Given the description of an element on the screen output the (x, y) to click on. 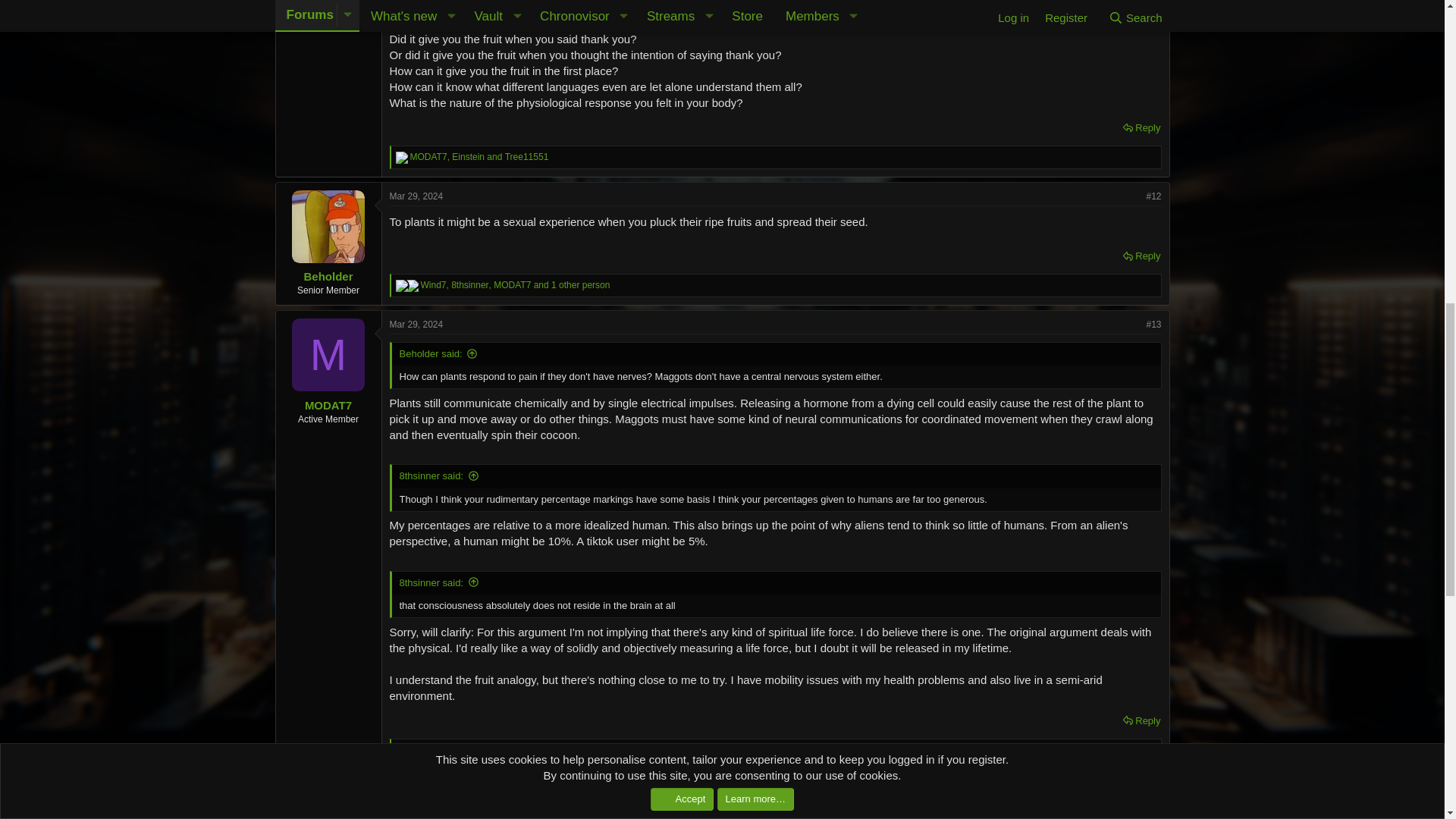
Reply, quoting this message (1141, 256)
Mar 29, 2024 at 7:07 PM (417, 195)
Like (401, 749)
Haha (401, 285)
Like (412, 285)
Like (401, 157)
Mar 29, 2024 at 9:32 PM (417, 324)
Reply, quoting this message (1141, 127)
Mar 29, 2024 at 10:15 PM (417, 788)
Reply, quoting this message (1141, 721)
